Given the description of an element on the screen output the (x, y) to click on. 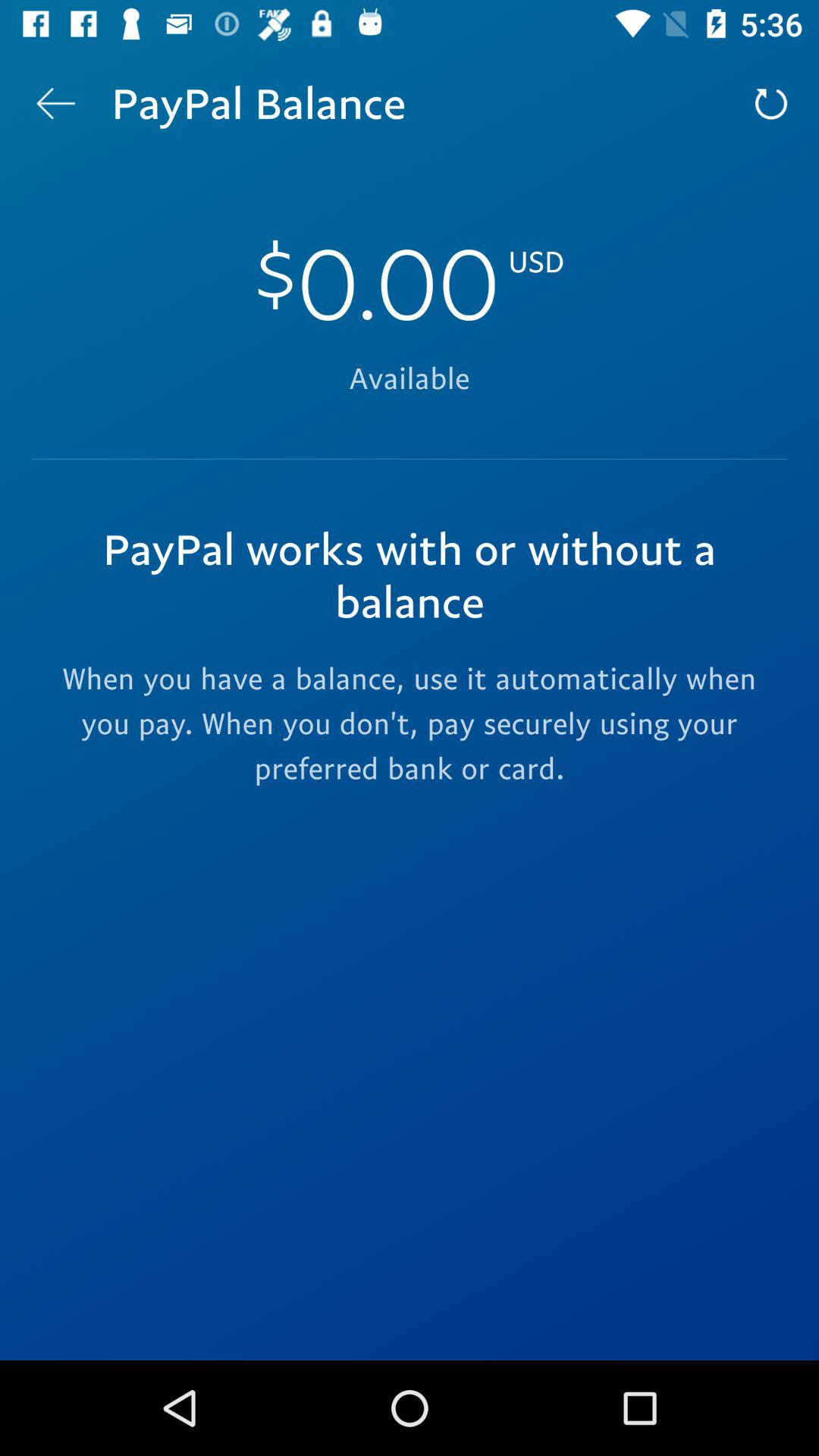
tap item to the right of paypal balance (771, 103)
